Given the description of an element on the screen output the (x, y) to click on. 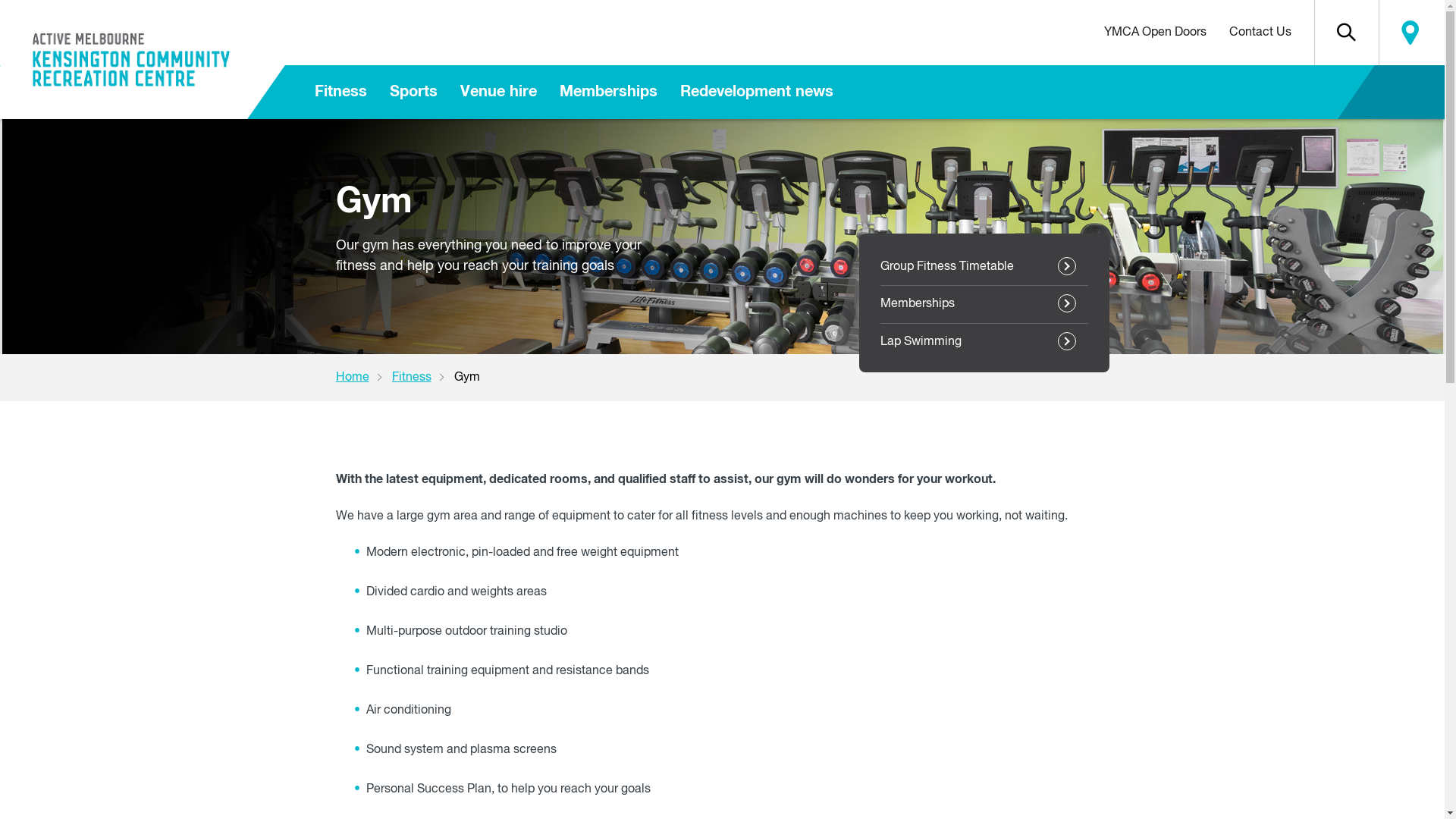
Locate Element type: text (1410, 32)
Sports Element type: text (413, 92)
Memberships Element type: text (608, 92)
Fitness Element type: text (422, 377)
Redevelopment news Element type: text (756, 92)
Contact Us Element type: text (1259, 32)
Venue hire Element type: text (498, 92)
YMCA Open Doors Element type: text (1154, 32)
Group Fitness Timetable Element type: text (983, 266)
Home Element type: text (363, 377)
Memberships Element type: text (983, 303)
Lap Swimming Element type: text (983, 341)
Fitness Element type: text (340, 92)
